Given the description of an element on the screen output the (x, y) to click on. 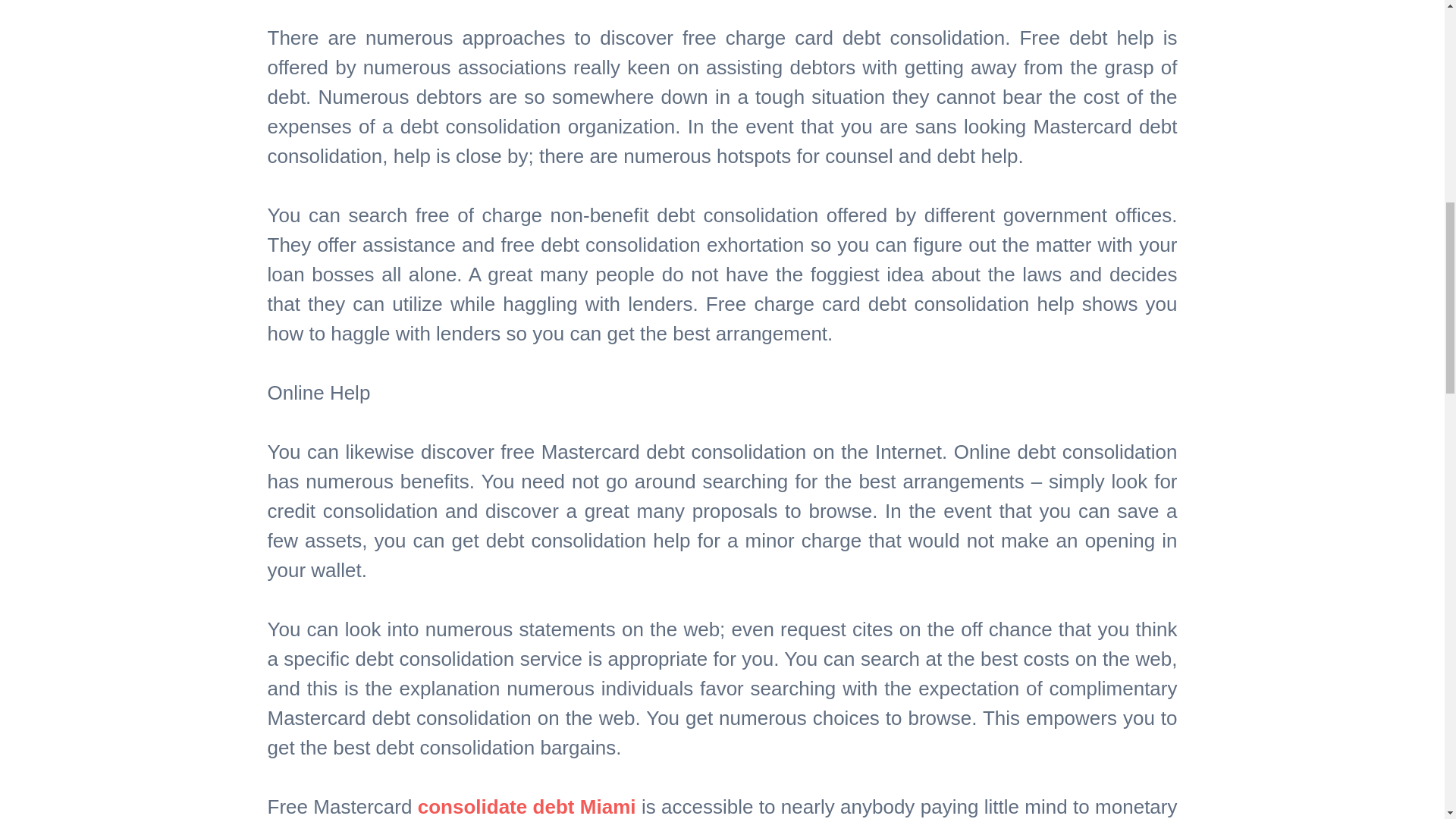
consolidate debt Miami (526, 806)
